Given the description of an element on the screen output the (x, y) to click on. 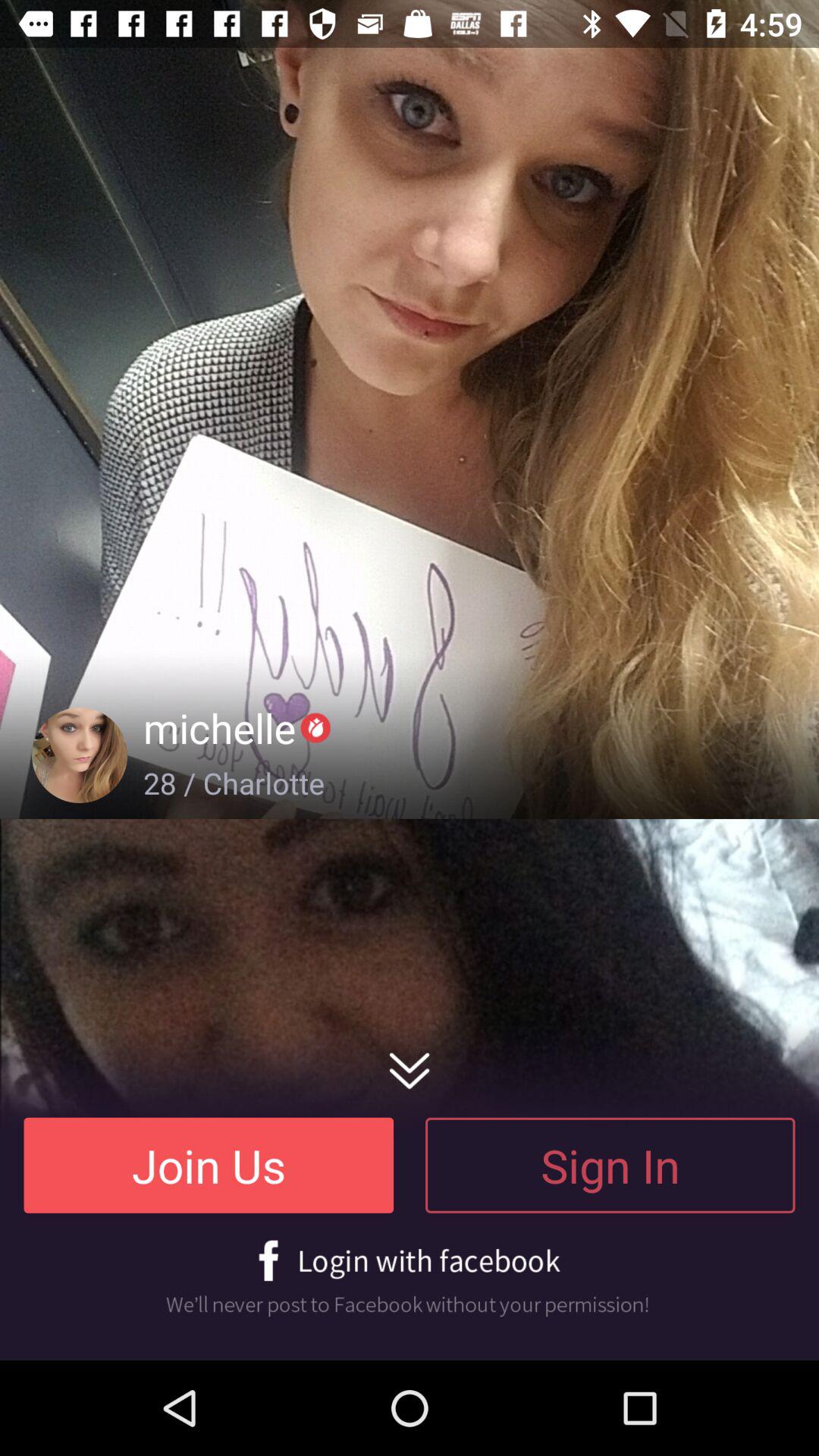
scroll to sign in (610, 1165)
